Given the description of an element on the screen output the (x, y) to click on. 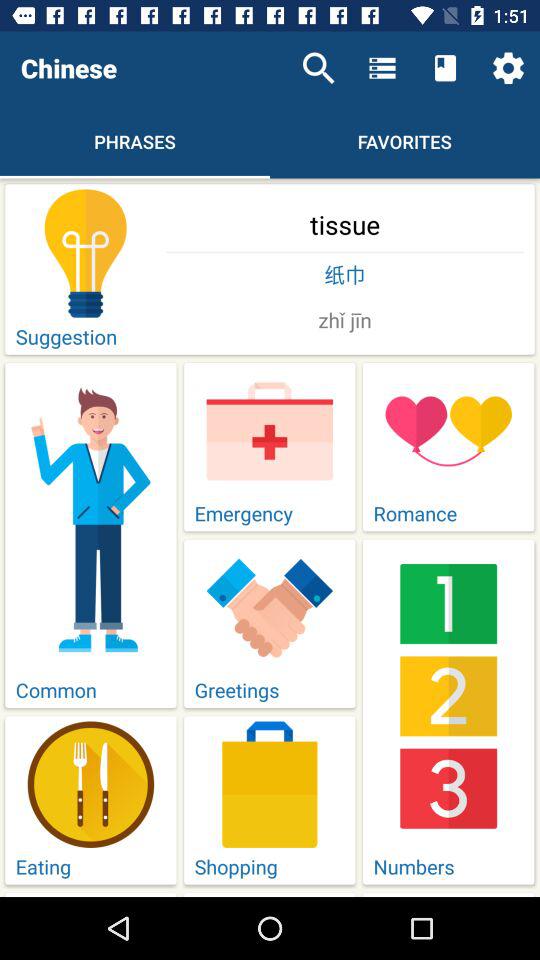
select the icon next to chinese item (318, 67)
